Given the description of an element on the screen output the (x, y) to click on. 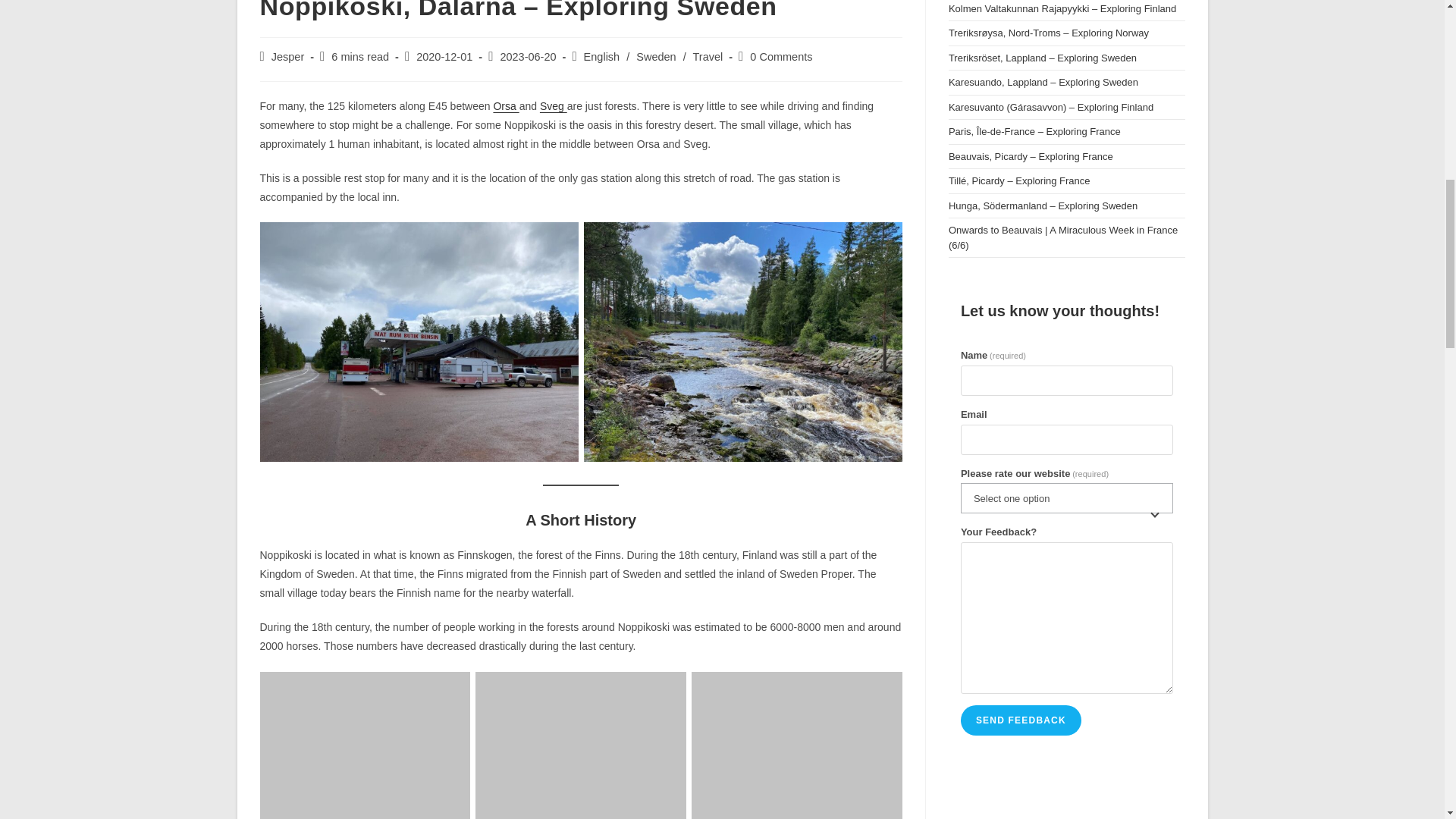
Posts by Jesper (287, 56)
